Given the description of an element on the screen output the (x, y) to click on. 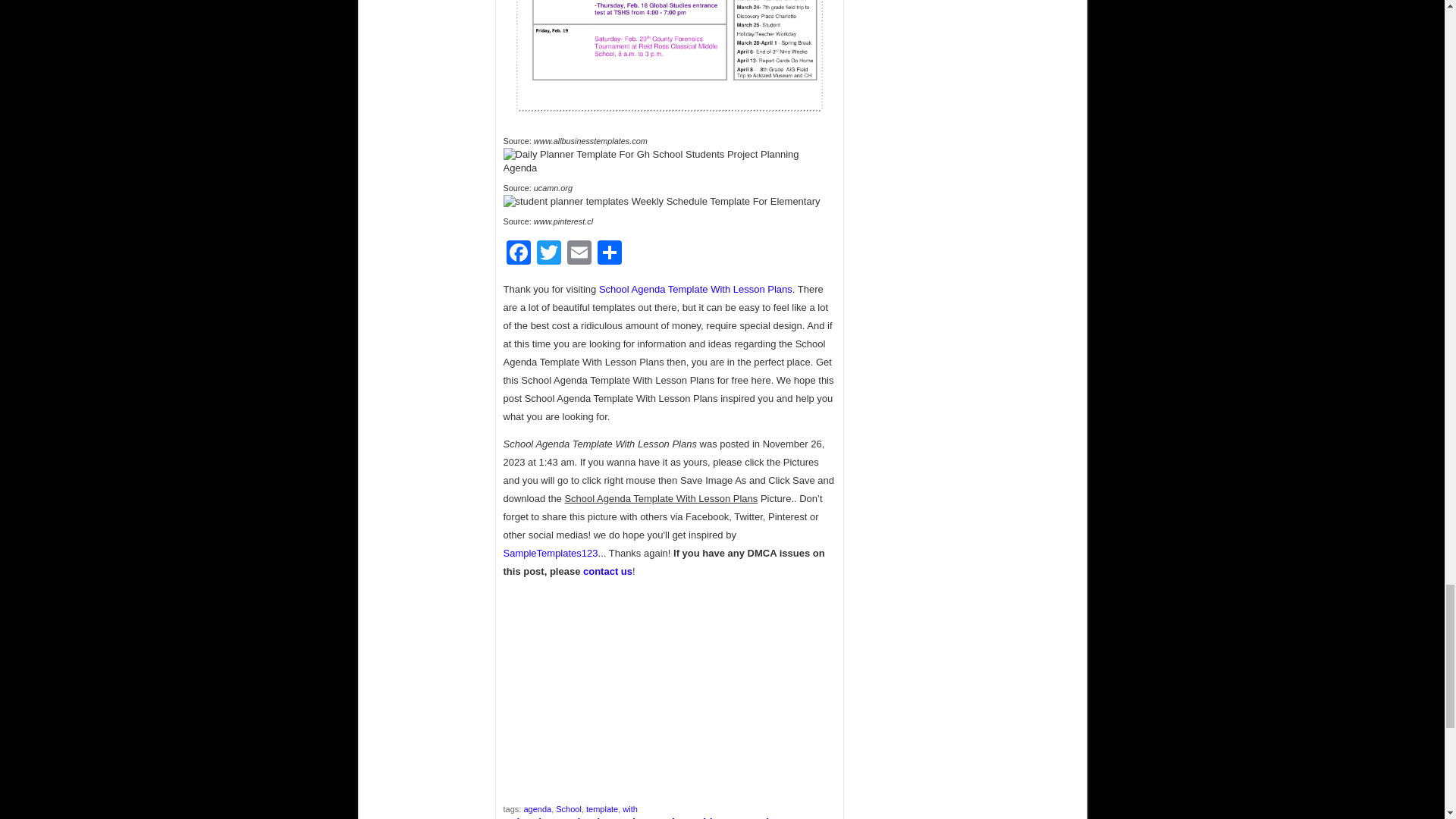
School Agenda Template With Lesson Plans (695, 288)
Twitter (549, 254)
template (601, 809)
with (630, 809)
Facebook (518, 254)
Twitter (549, 254)
Facebook (518, 254)
School (568, 809)
Share (609, 254)
Email (579, 254)
Email (579, 254)
contact us (607, 571)
agenda (536, 809)
SampleTemplates123 (550, 552)
